Given the description of an element on the screen output the (x, y) to click on. 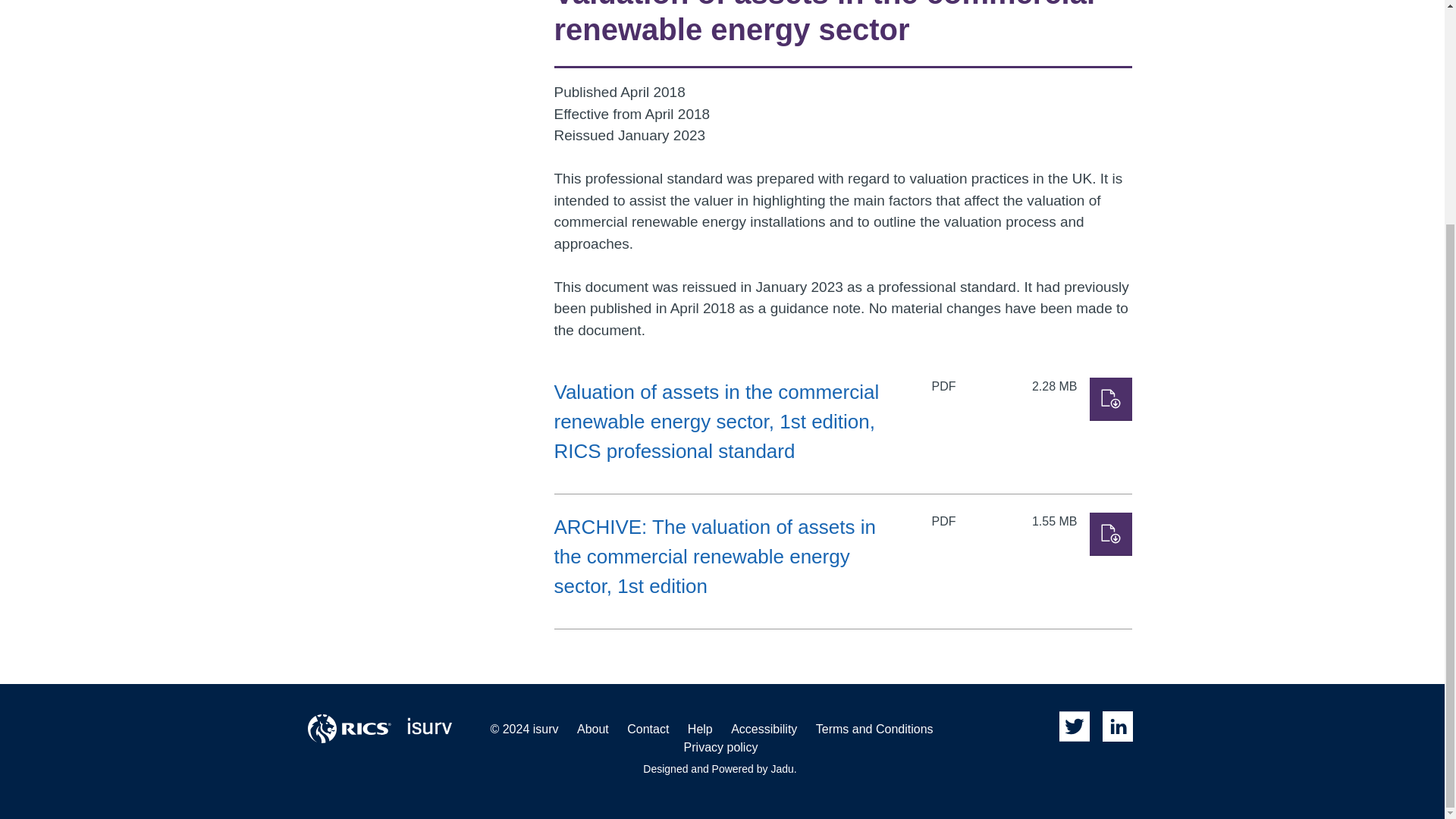
Download (1110, 534)
RICS (349, 728)
Download (1110, 398)
